Given the description of an element on the screen output the (x, y) to click on. 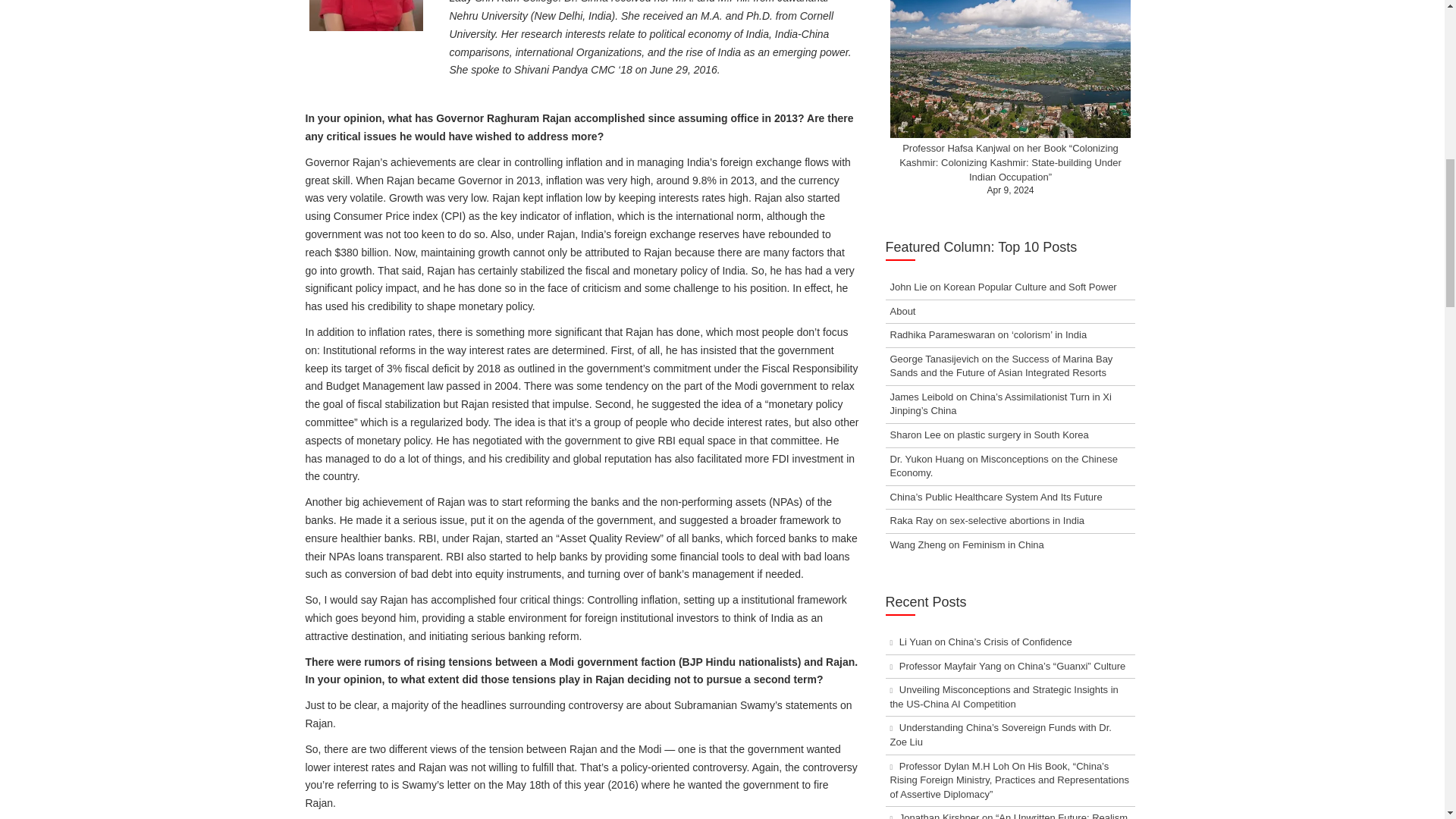
Dr. Yukon Huang on Misconceptions on the Chinese Economy. (1003, 466)
Raka Ray on sex-selective abortions in India (986, 520)
Sharon Lee on plastic surgery in South Korea (989, 434)
John Lie on Korean Popular Culture and Soft Power (1002, 286)
About (902, 310)
